Given the description of an element on the screen output the (x, y) to click on. 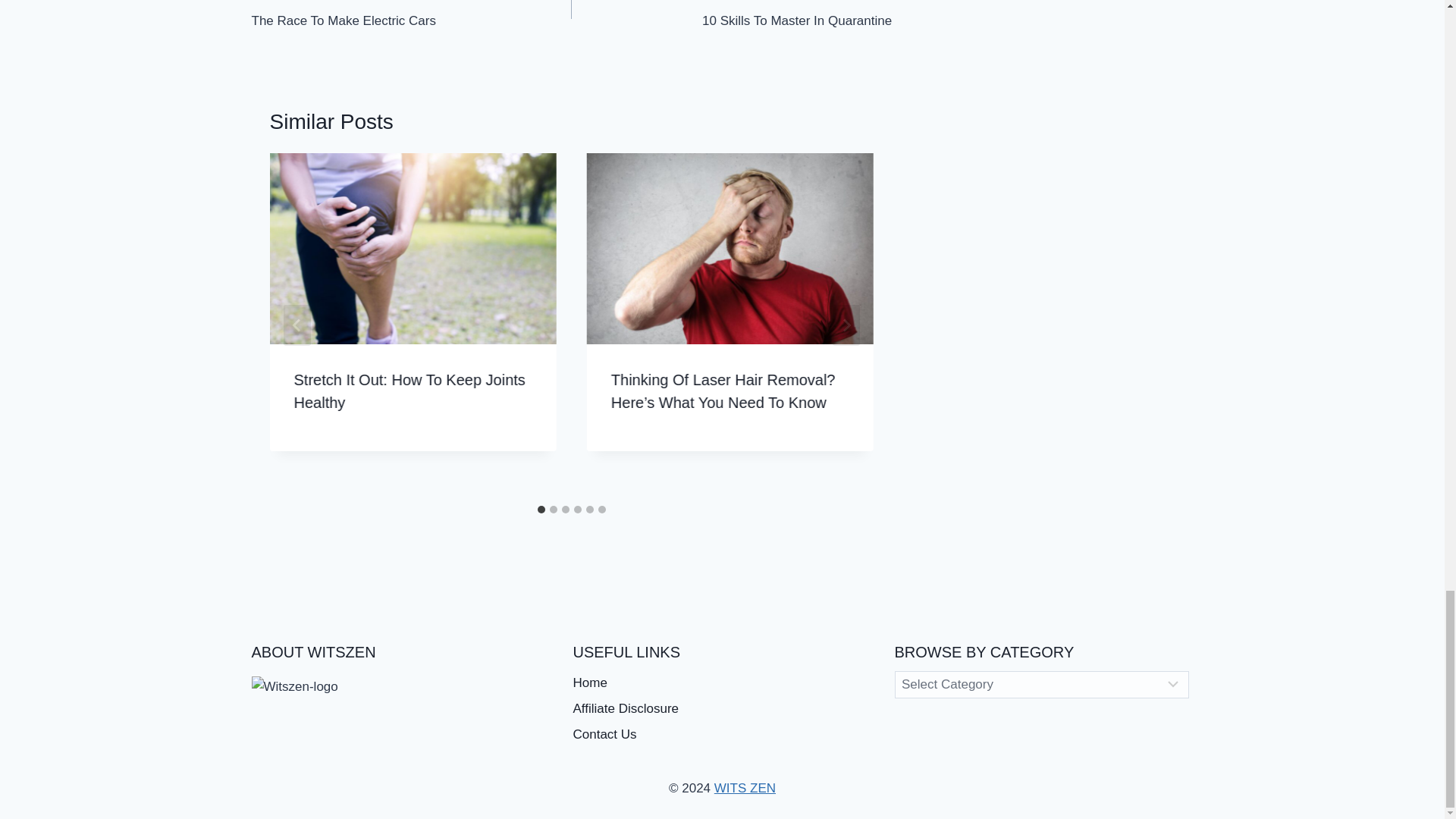
Stretch It Out: How To Keep Joints Healthy (409, 391)
